Given the description of an element on the screen output the (x, y) to click on. 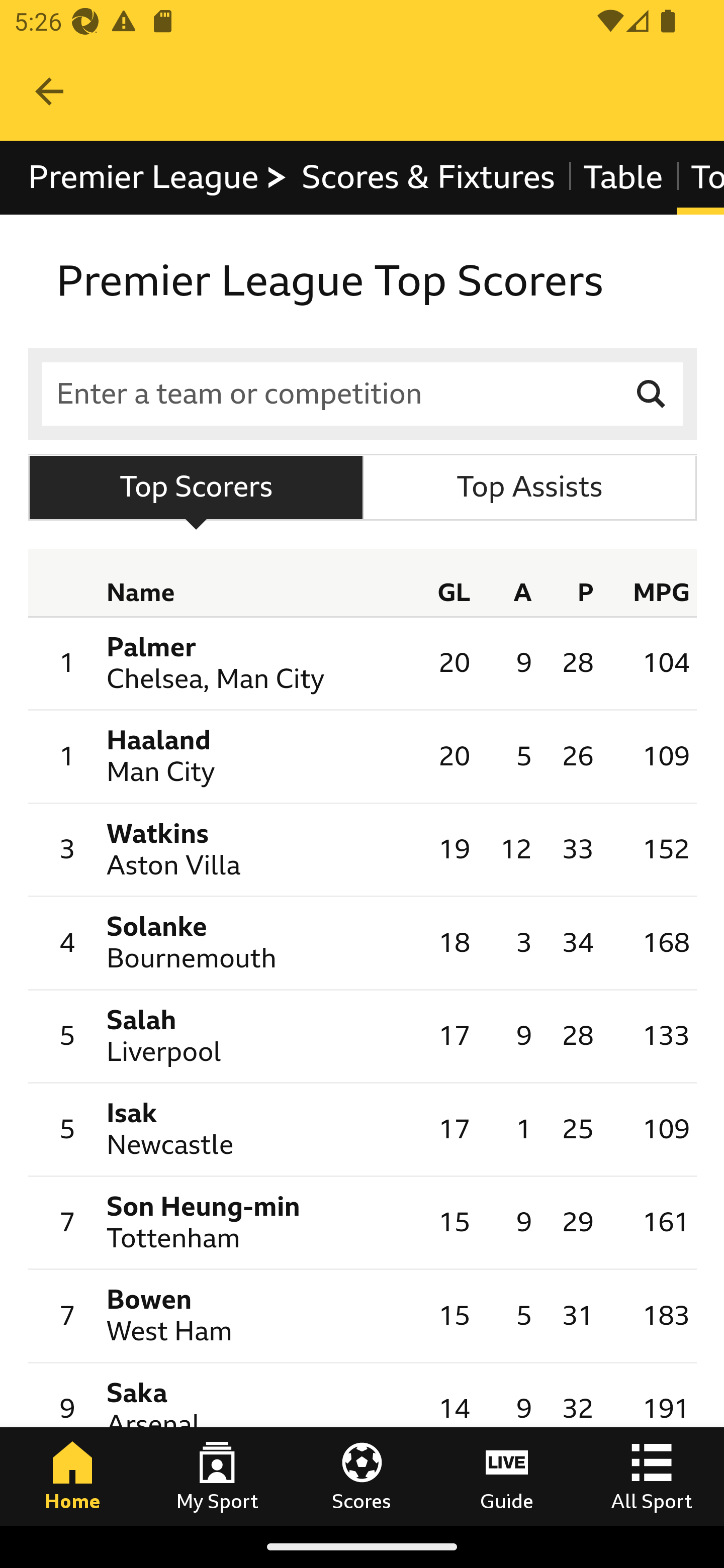
Navigate up (49, 91)
Premier League  (158, 177)
Scores & Fixtures (428, 177)
Table (622, 177)
Search (651, 393)
Top Scorers (196, 486)
Top Assists (529, 486)
My Sport (216, 1475)
Scores (361, 1475)
Guide (506, 1475)
All Sport (651, 1475)
